Given the description of an element on the screen output the (x, y) to click on. 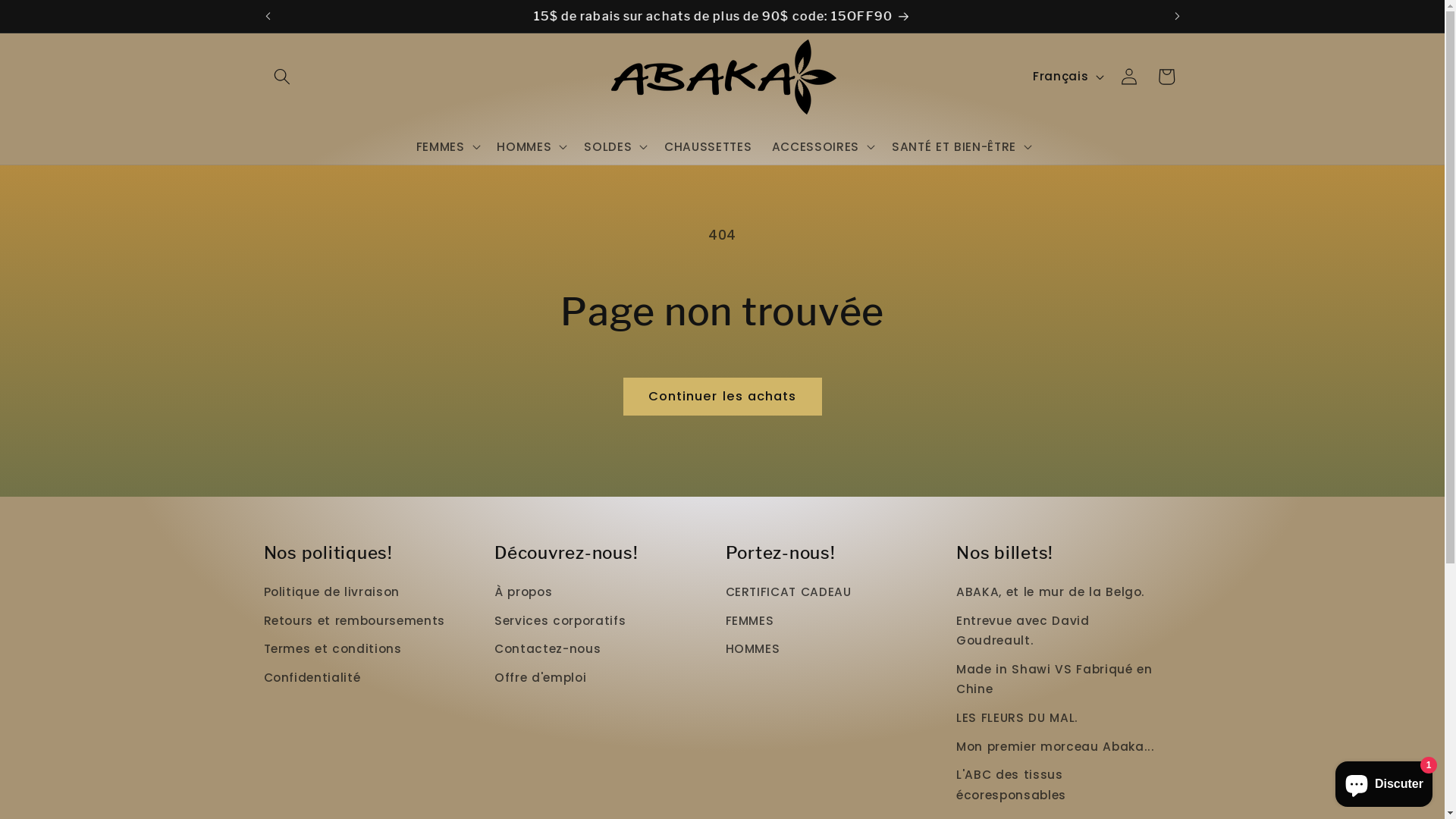
Contactez-nous Element type: text (547, 649)
Connexion Element type: text (1128, 76)
ABAKA, et le mur de la Belgo. Element type: text (1050, 594)
Termes et conditions Element type: text (332, 649)
Mon premier morceau Abaka... Element type: text (1055, 746)
CERTIFICAT CADEAU Element type: text (787, 594)
LES FLEURS DU MAL. Element type: text (1017, 718)
Services corporatifs Element type: text (559, 620)
Panier Element type: text (1166, 76)
CHAUSSETTES Element type: text (708, 146)
Continuer les achats Element type: text (722, 396)
Politique de livraison Element type: text (331, 594)
HOMMES Element type: text (751, 649)
Retours et remboursements Element type: text (354, 620)
15$ de rabais sur achats de plus de 90$ code: 15OFF90 Element type: text (722, 16)
Chat de la boutique en ligne Shopify Element type: hover (1383, 780)
Offre d'emploi Element type: text (540, 677)
Entrevue avec David Goudreault. Element type: text (1062, 630)
FEMMES Element type: text (748, 620)
